Given the description of an element on the screen output the (x, y) to click on. 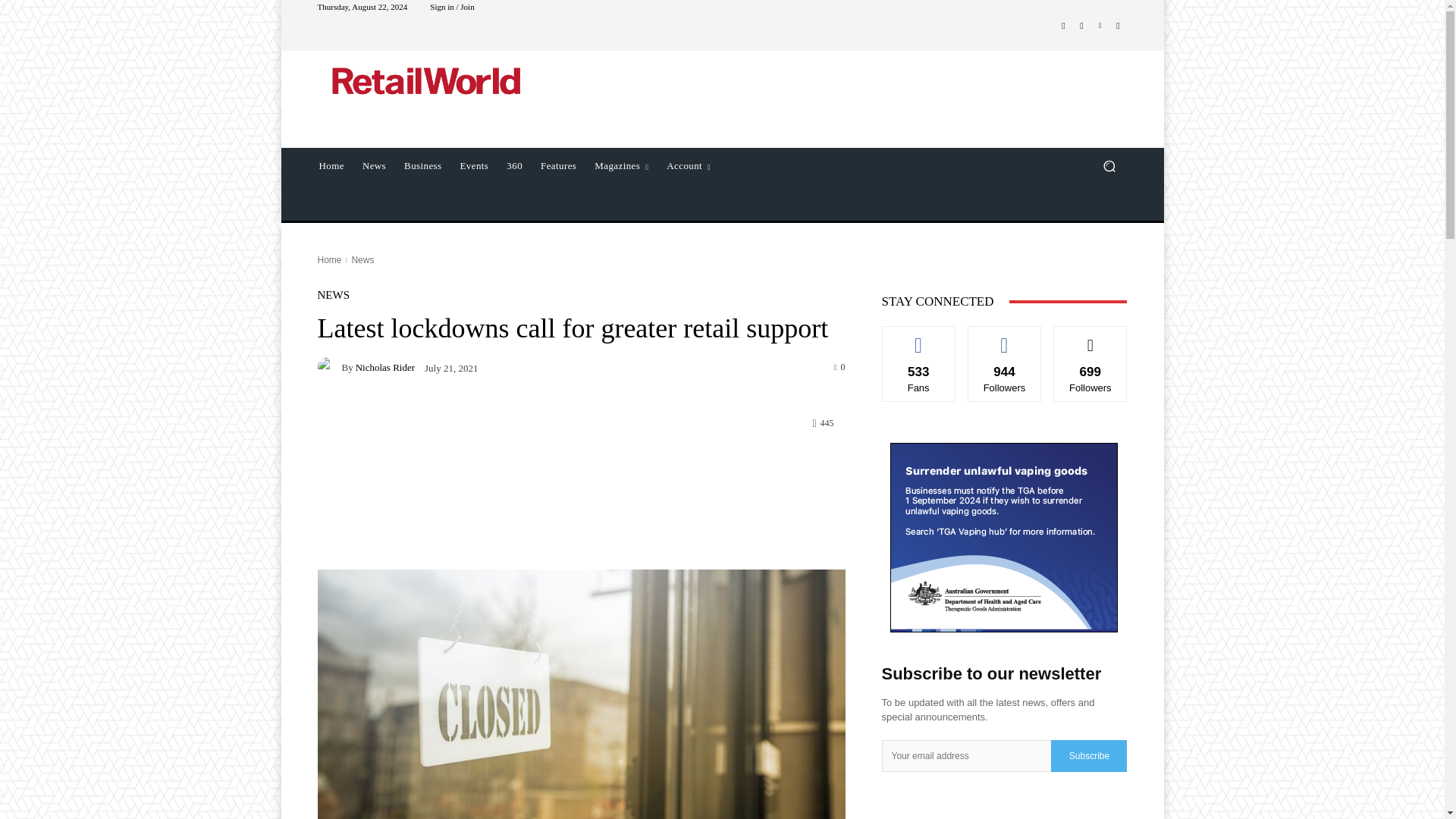
Twitter (1117, 25)
Facebook (1062, 25)
Instagram (1080, 25)
Home (328, 259)
Account (688, 166)
Linkedin (1099, 25)
Business (421, 166)
NEWS (333, 295)
News (373, 166)
News (362, 259)
